Given the description of an element on the screen output the (x, y) to click on. 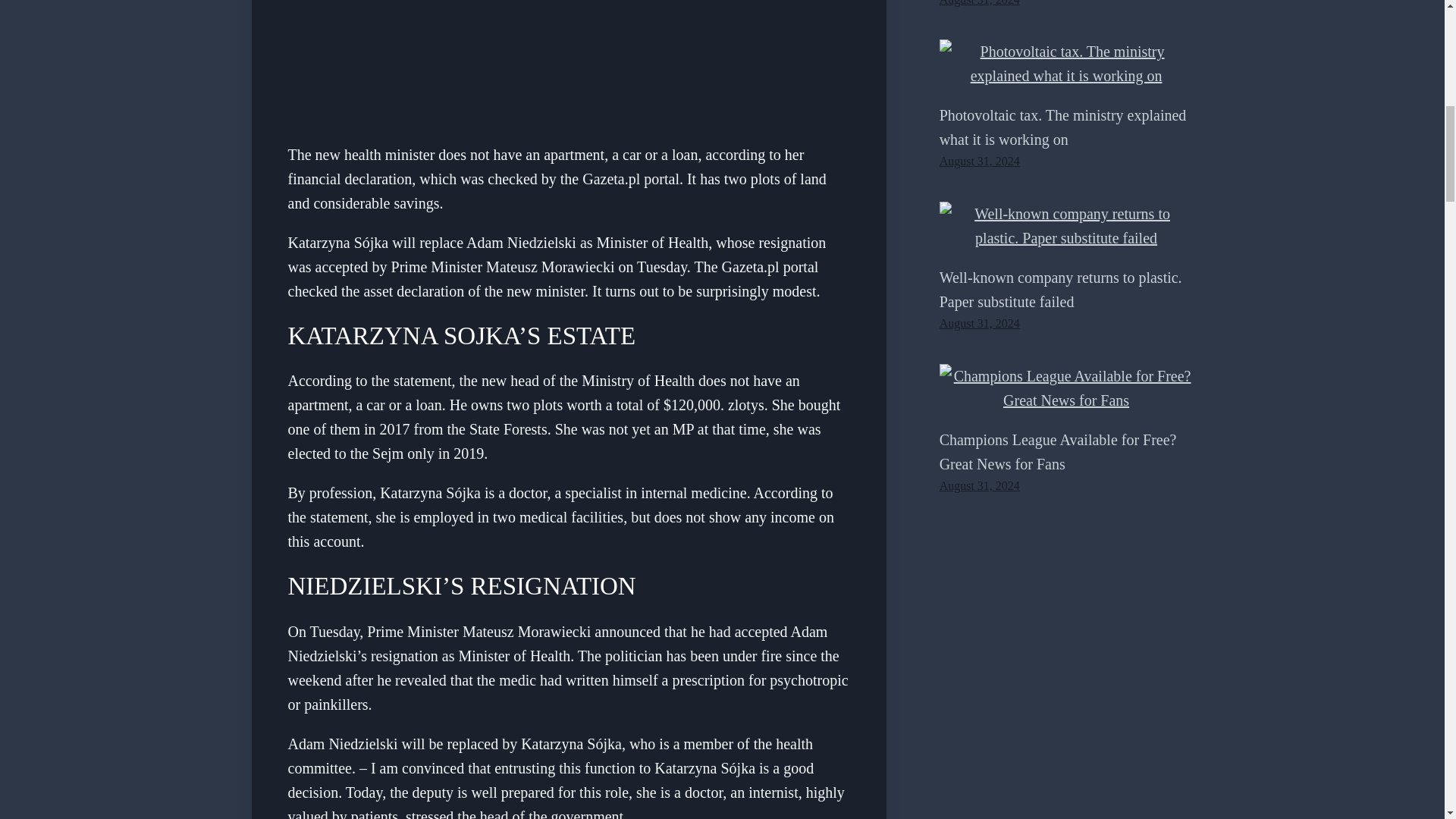
7:26 pm (979, 160)
6:26 pm (979, 323)
Champions League Available for Free? Great News for Fans (1057, 451)
August 31, 2024 (979, 160)
3:26 pm (979, 485)
August 31, 2024 (979, 485)
August 31, 2024 (979, 2)
August 31, 2024 (979, 323)
